Given the description of an element on the screen output the (x, y) to click on. 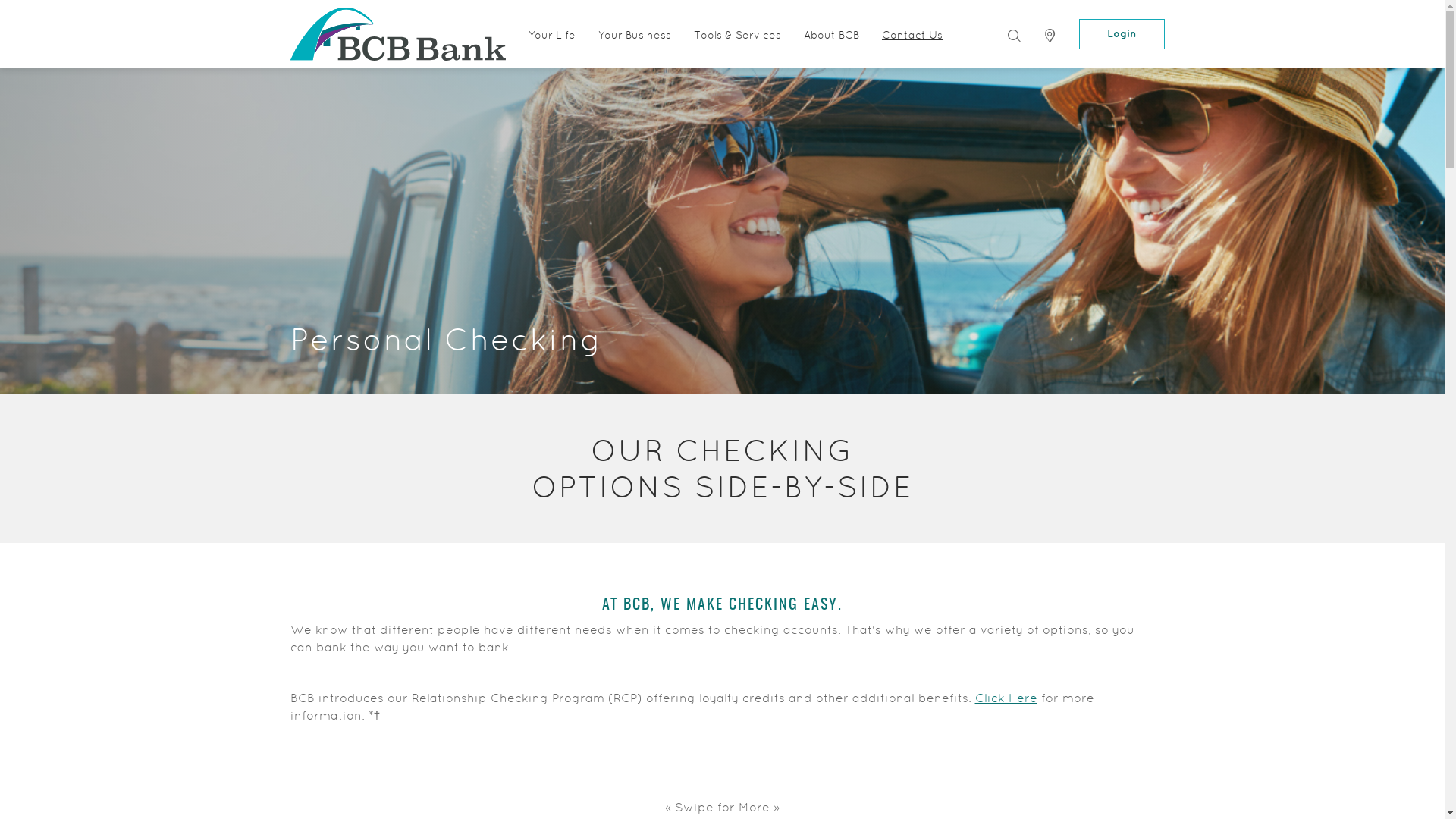
BCB Bank, Bayonne, NJ Element type: hover (397, 34)
Click Here Element type: text (1006, 697)
Login Element type: text (1121, 33)
Contact Us Element type: text (911, 34)
Locator Element type: text (1049, 35)
Search Element type: text (1013, 35)
